Given the description of an element on the screen output the (x, y) to click on. 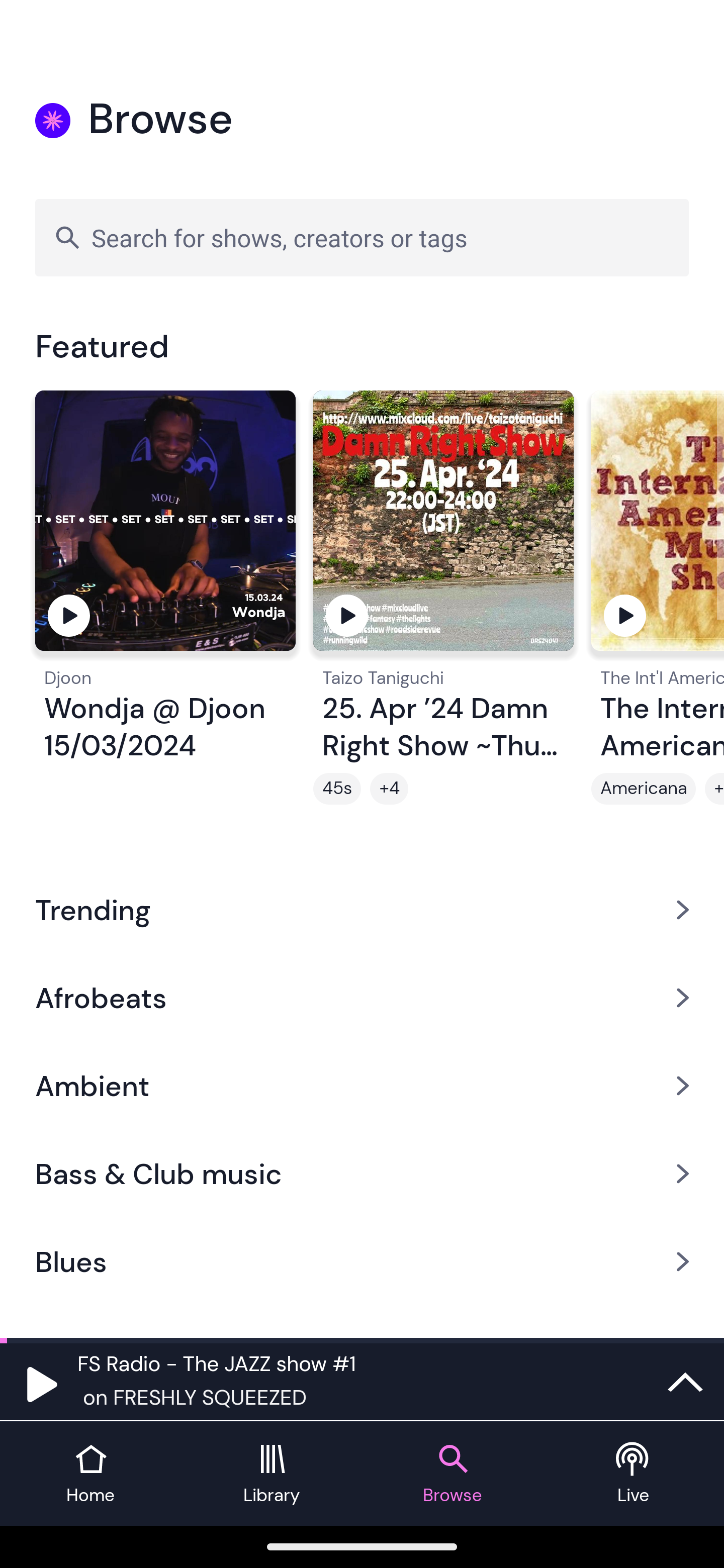
Search for shows, creators or tags (361, 237)
45s (337, 788)
Americana (643, 788)
Trending (361, 909)
Afrobeats (361, 997)
Ambient (361, 1085)
Bass & Club music (361, 1174)
Blues (361, 1262)
Home tab Home (90, 1473)
Library tab Library (271, 1473)
Browse tab Browse (452, 1473)
Live tab Live (633, 1473)
